Given the description of an element on the screen output the (x, y) to click on. 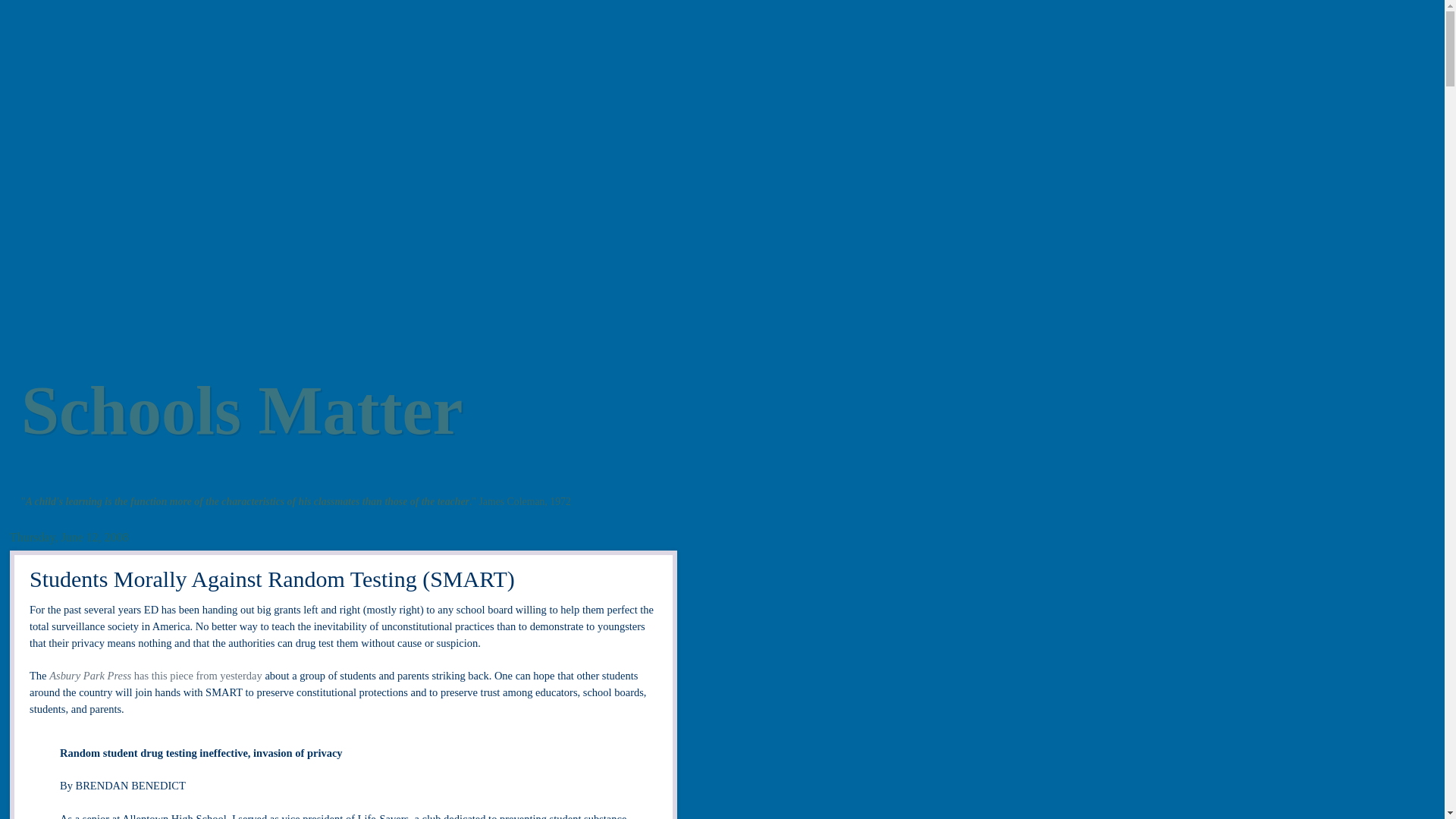
Asbury Park Press has this piece from yesterday (155, 675)
Schools Matter (242, 410)
